Given the description of an element on the screen output the (x, y) to click on. 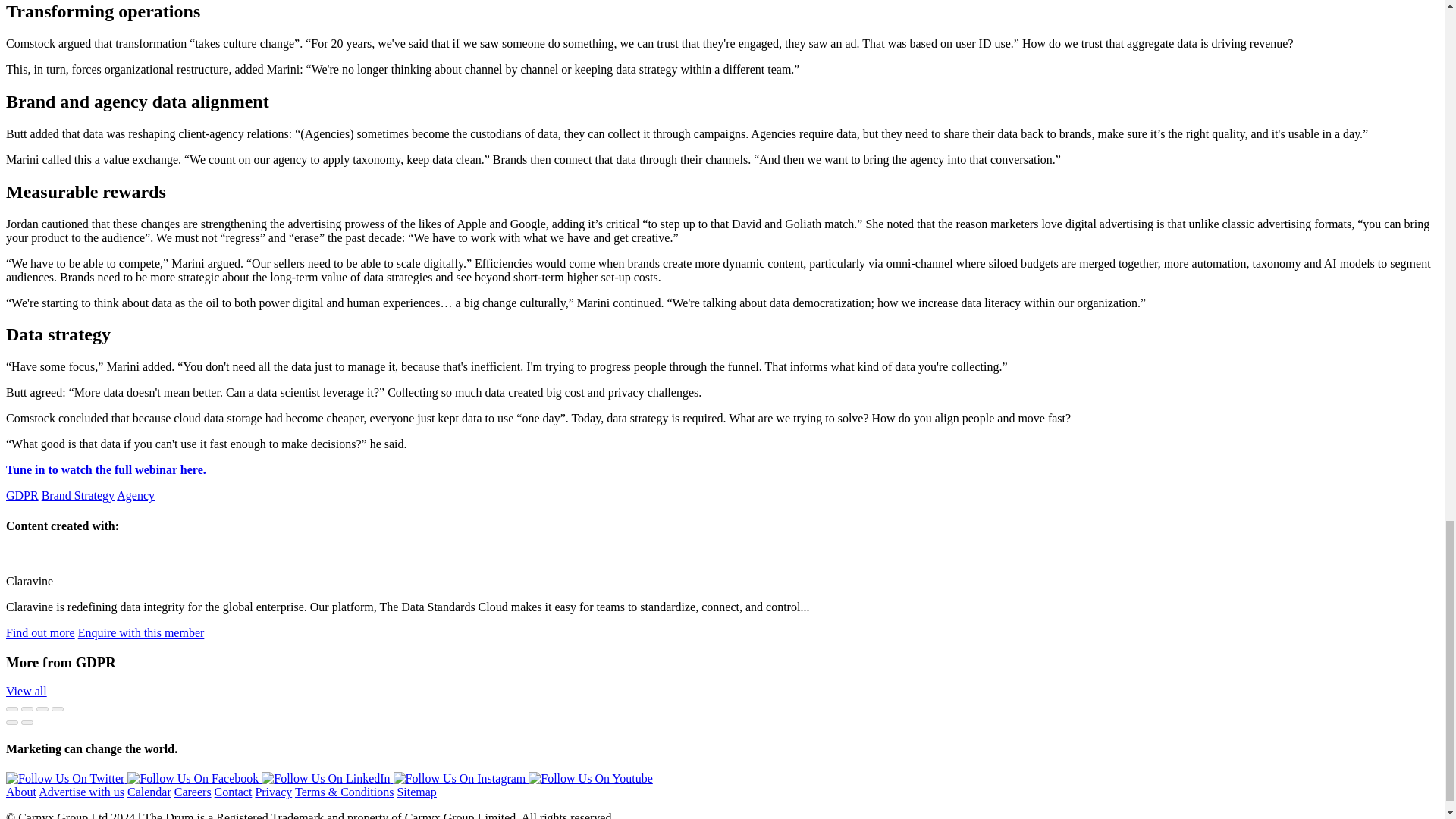
Advertise with us (81, 791)
Careers (192, 791)
Agency (135, 495)
Tune in to watch the full webinar here. (105, 469)
View all (25, 690)
About (20, 791)
Brand Strategy (78, 495)
GDPR (22, 495)
Toggle fullscreen (42, 708)
Share (27, 708)
